Given the description of an element on the screen output the (x, y) to click on. 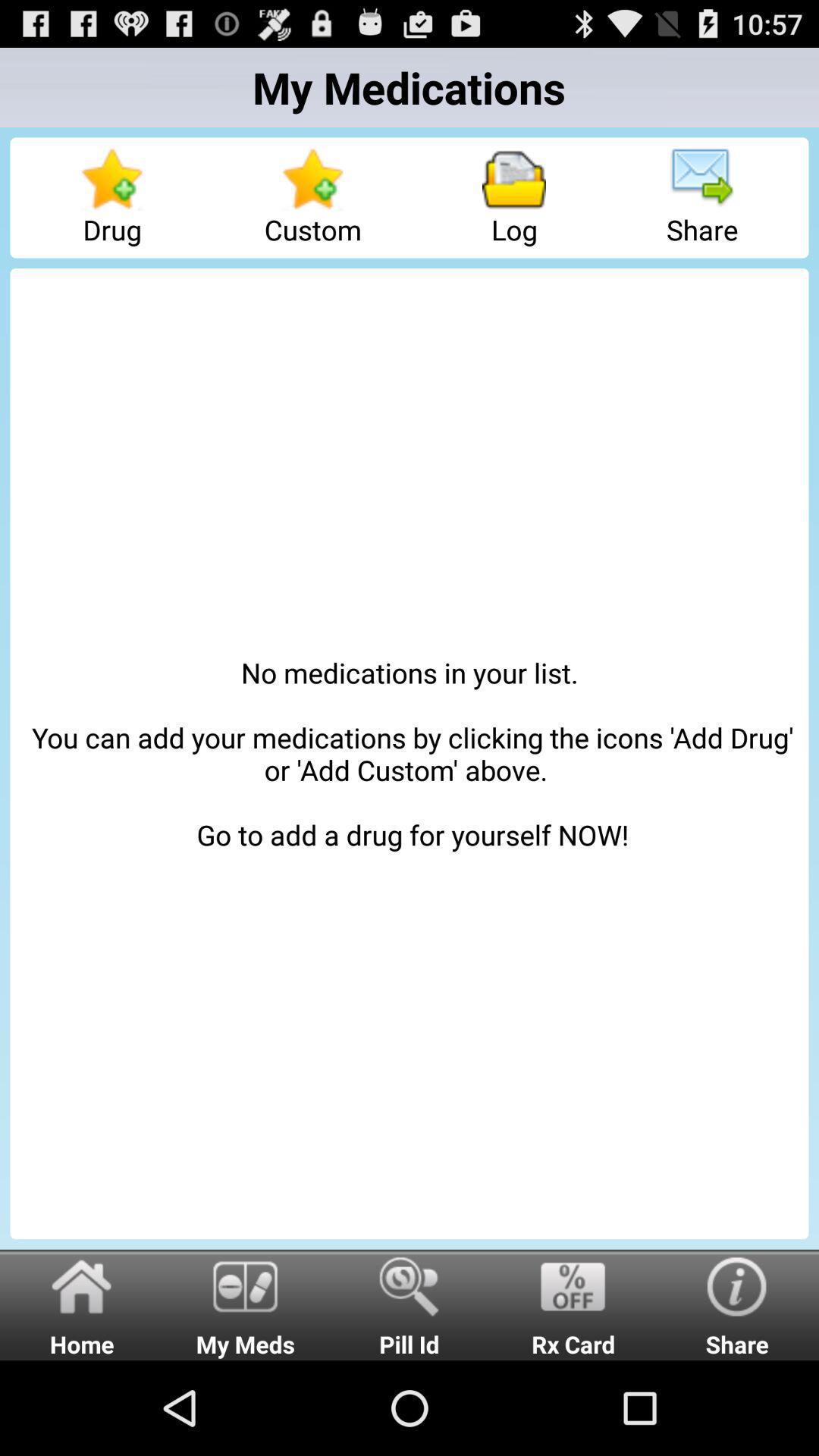
scroll until pill id icon (409, 1304)
